Given the description of an element on the screen output the (x, y) to click on. 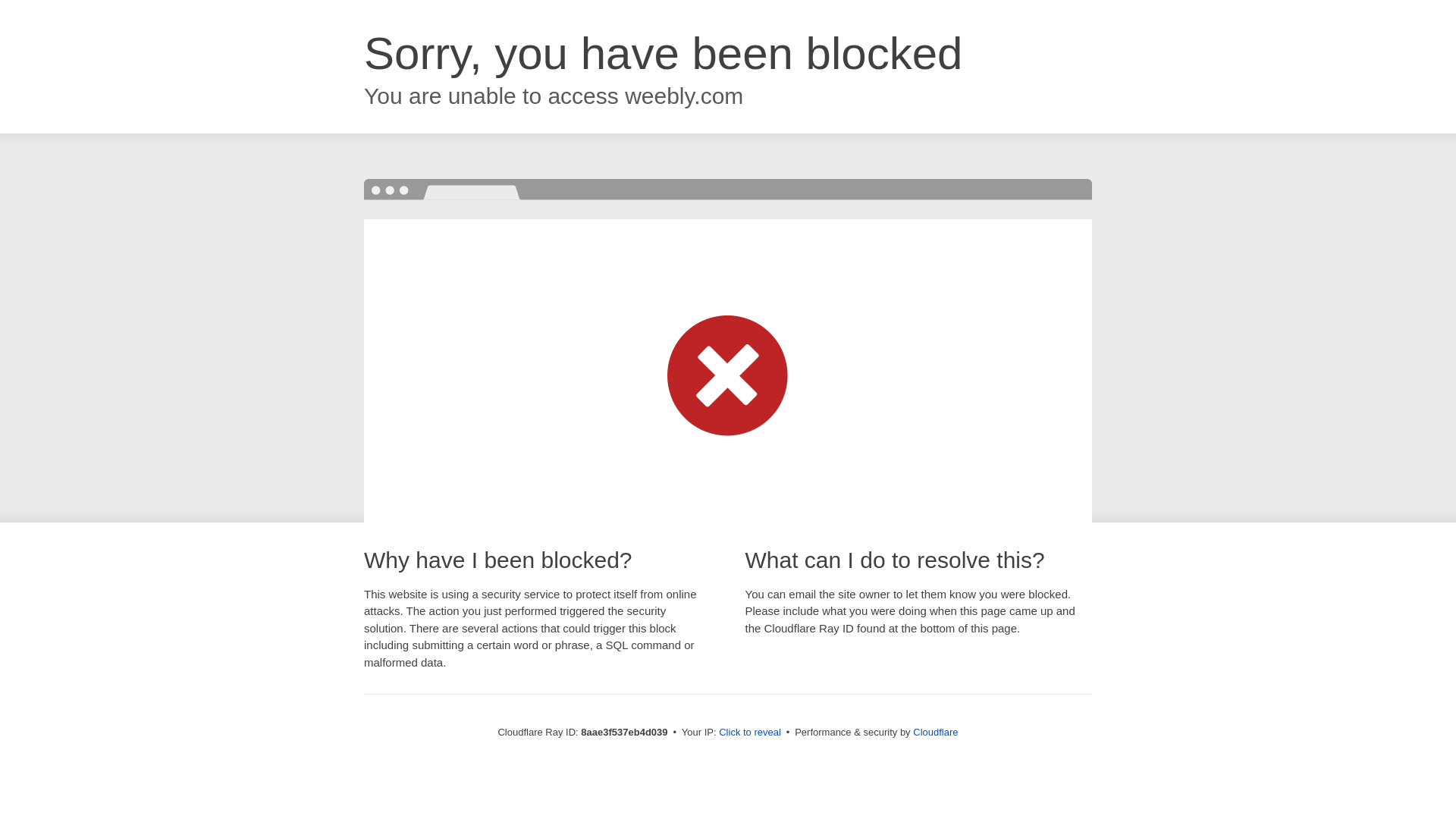
Cloudflare (935, 731)
Click to reveal (749, 732)
